Given the description of an element on the screen output the (x, y) to click on. 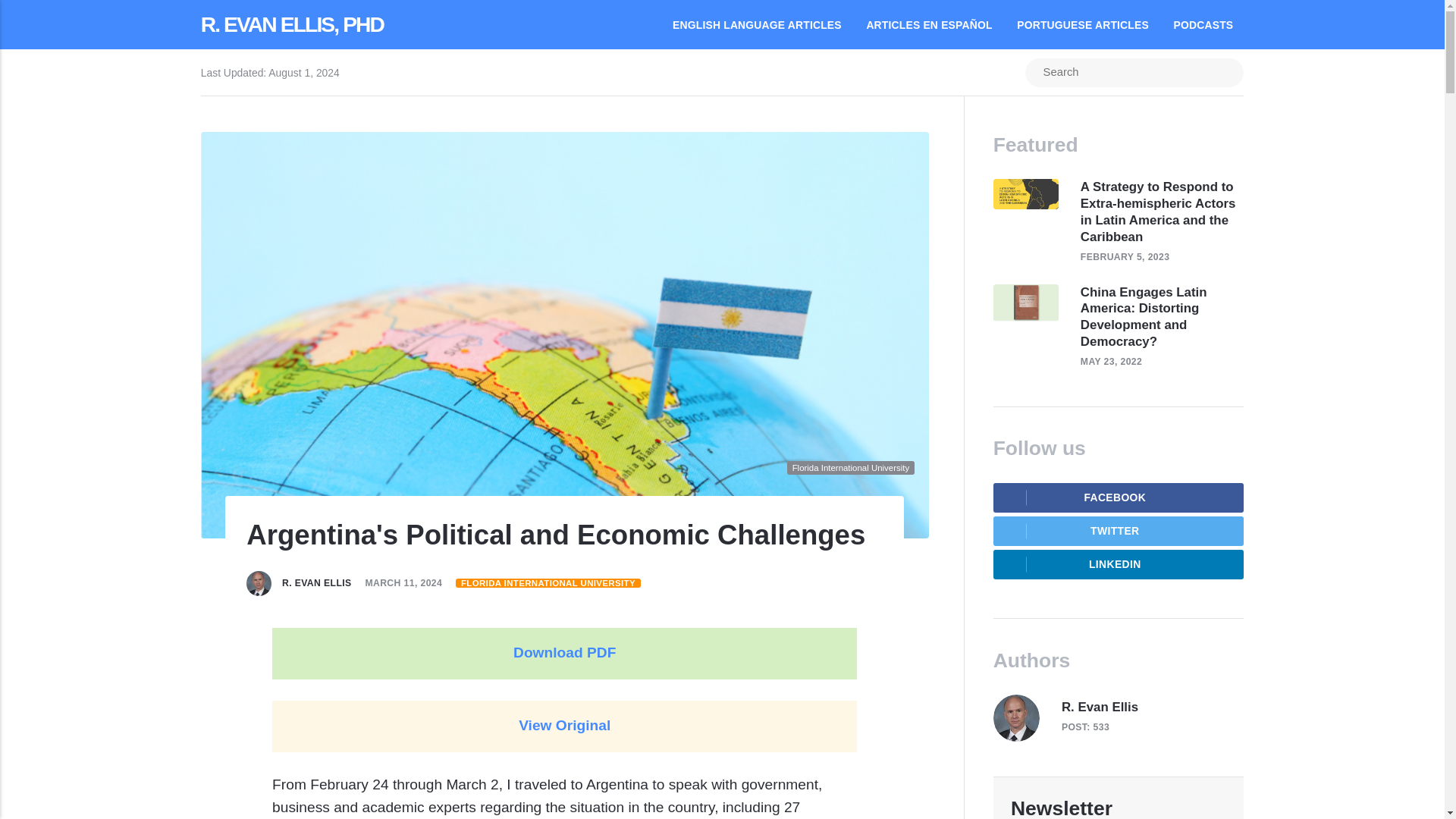
R. EVAN ELLIS, PHD (292, 24)
R. EVAN ELLIS (317, 583)
View Original (564, 725)
ENGLISH LANGUAGE ARTICLES (756, 24)
FLORIDA INTERNATIONAL UNIVERSITY (547, 583)
R. Evan Ellis (317, 583)
PORTUGUESE ARTICLES (1082, 24)
Download PDF (564, 652)
PODCASTS (1203, 24)
